Given the description of an element on the screen output the (x, y) to click on. 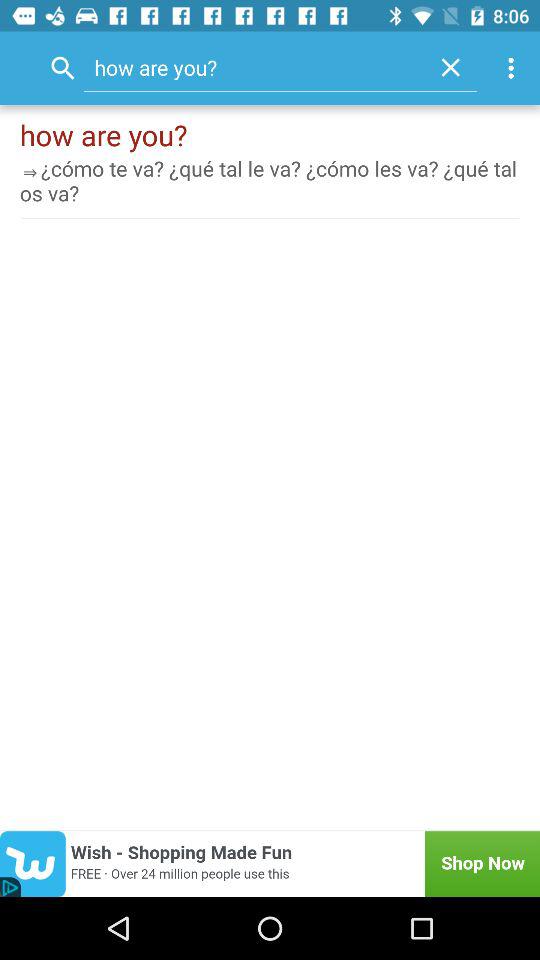
launch the icon above the how are you? item (450, 67)
